Given the description of an element on the screen output the (x, y) to click on. 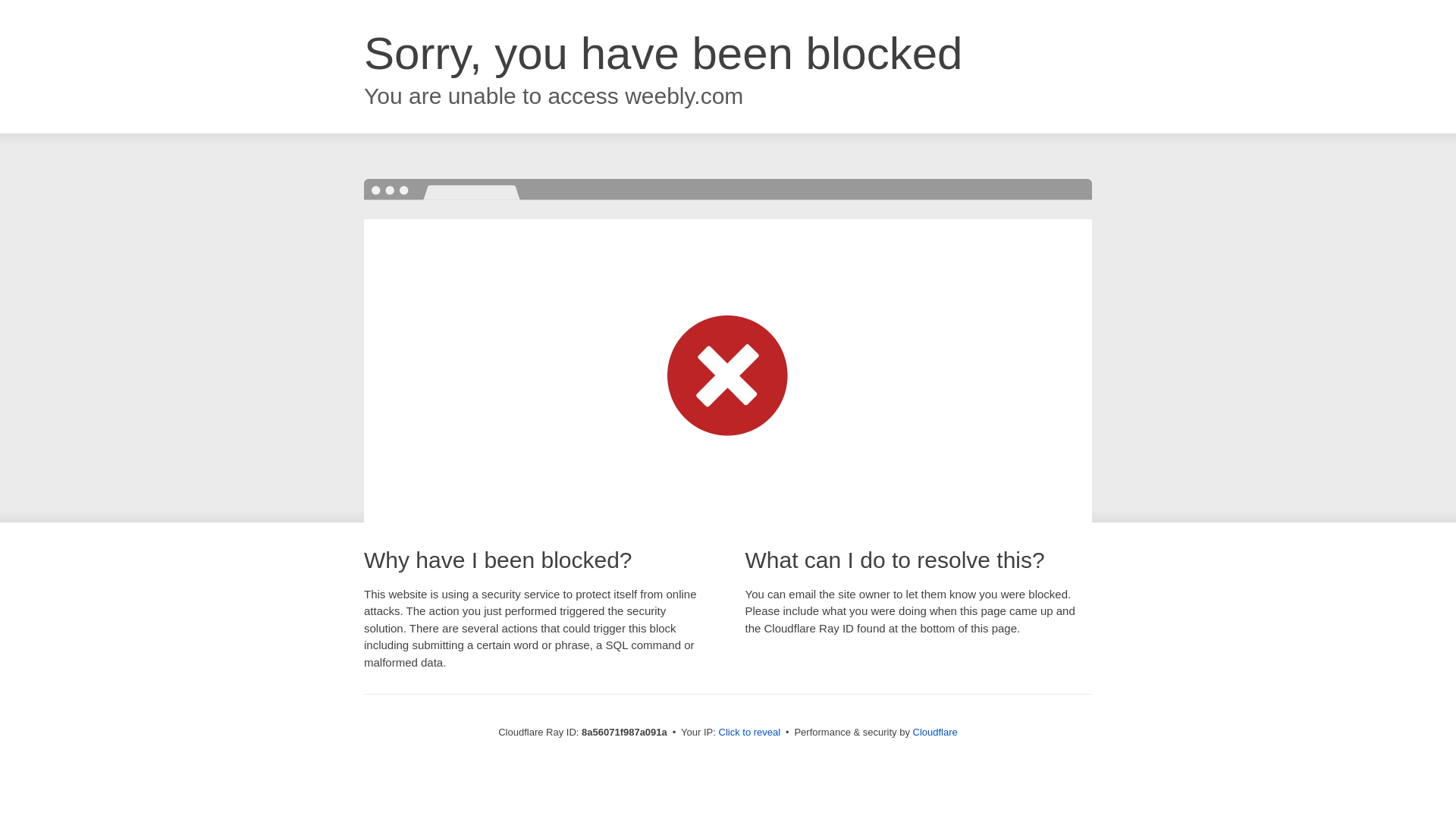
Cloudflare (935, 731)
Click to reveal (749, 732)
